Given the description of an element on the screen output the (x, y) to click on. 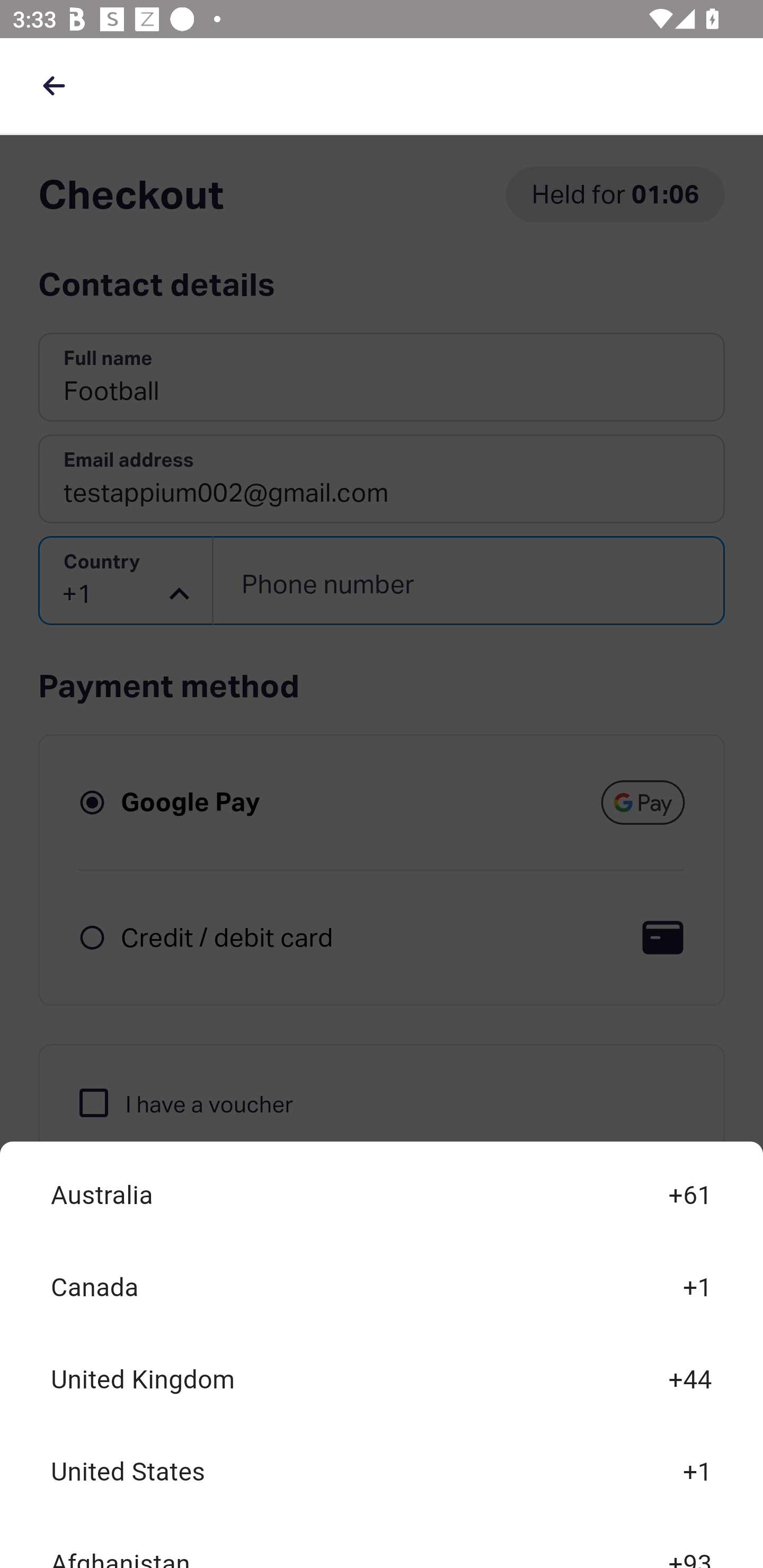
back button (53, 85)
Australia +61 (381, 1196)
Canada +1 (381, 1287)
United Kingdom +44 (381, 1379)
United States +1 (381, 1472)
